Given the description of an element on the screen output the (x, y) to click on. 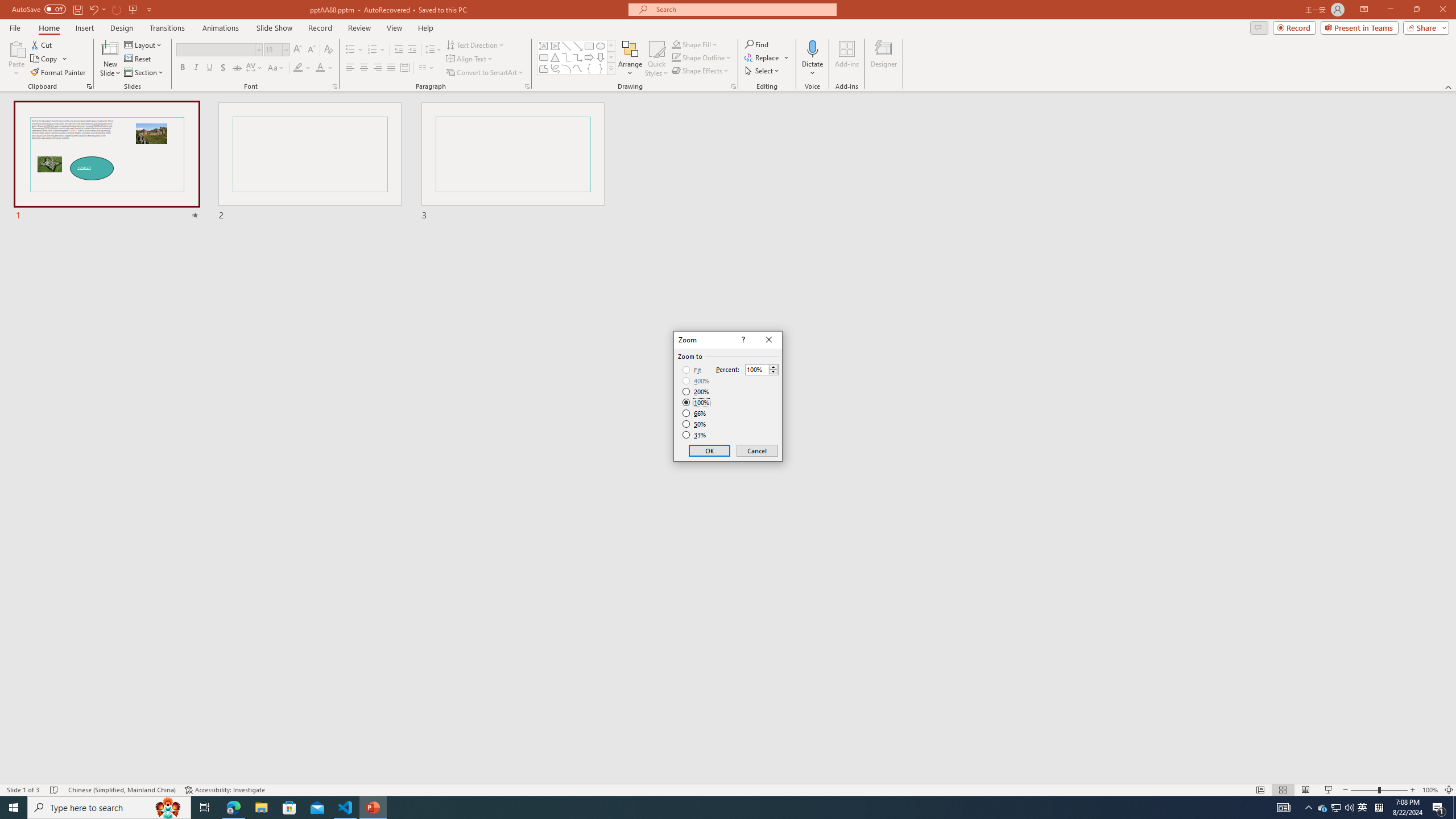
Context help (742, 339)
Shape Outline Teal, Accent 1 (675, 56)
